Given the description of an element on the screen output the (x, y) to click on. 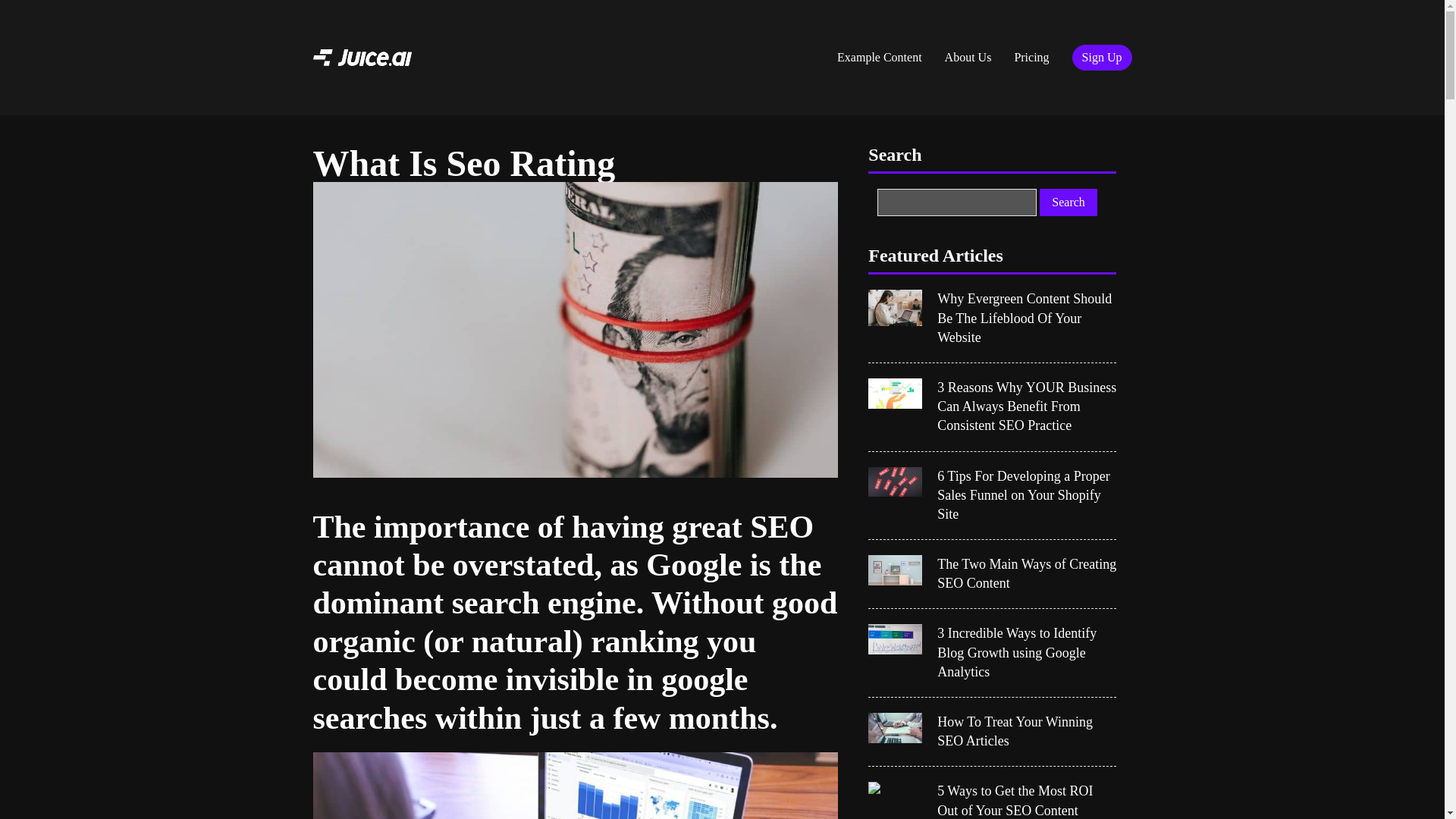
The Two Main Ways of Creating SEO Content (1026, 573)
Example Content (879, 57)
Search (1068, 202)
Sign Up (1101, 57)
5 Ways to Get the Most ROI Out of Your SEO Content (1026, 800)
How To Treat Your Winning SEO Articles (1026, 731)
Get Started! (873, 23)
